Given the description of an element on the screen output the (x, y) to click on. 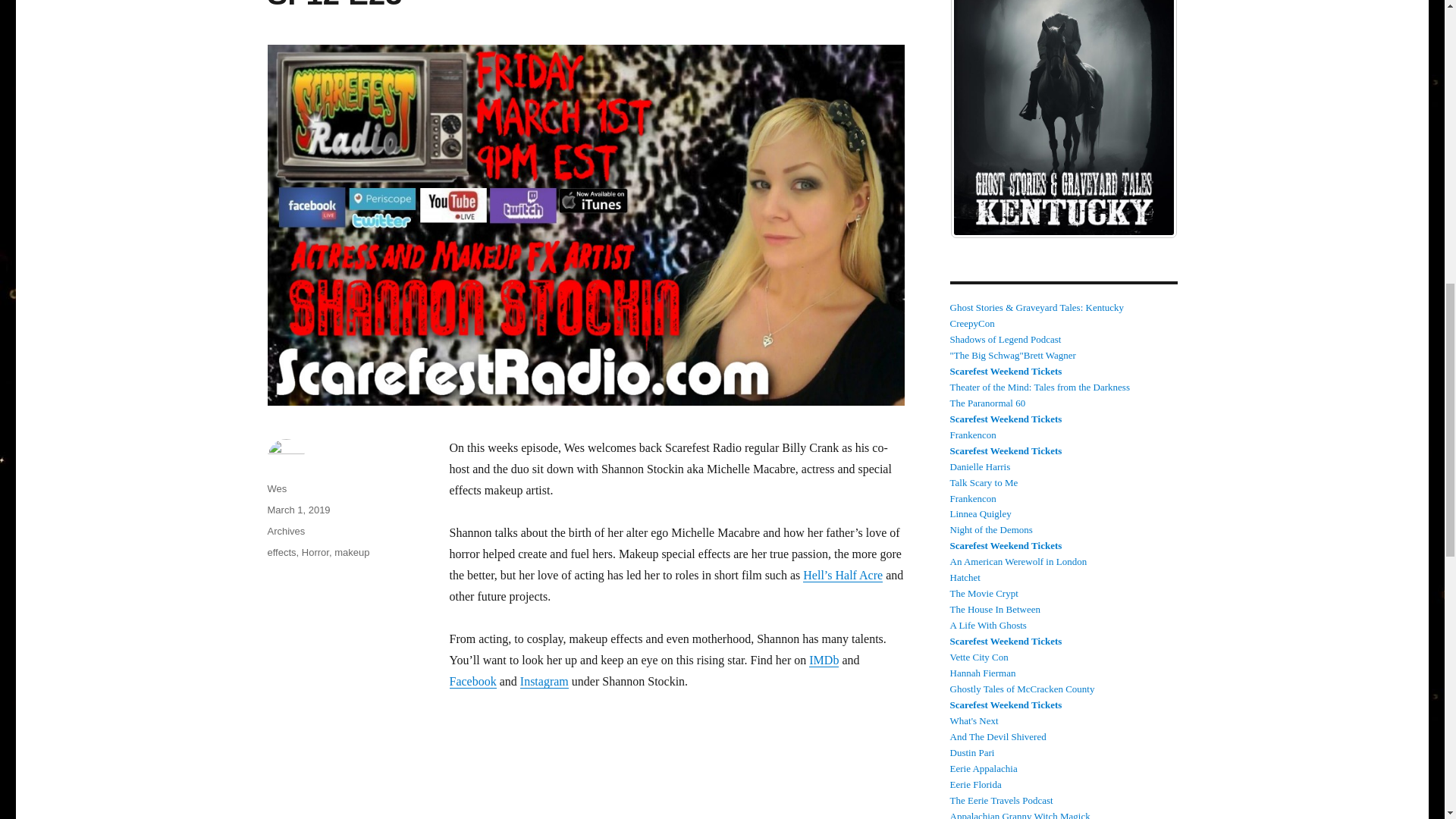
Archives (285, 531)
Shannon Stockin aka Michelle Macabre SF12 E23 (549, 5)
Horror (315, 552)
YouTube player (676, 766)
Instagram (544, 680)
effects (280, 552)
March 1, 2019 (298, 509)
makeup (351, 552)
Facebook (472, 680)
IMDb (823, 659)
